Given the description of an element on the screen output the (x, y) to click on. 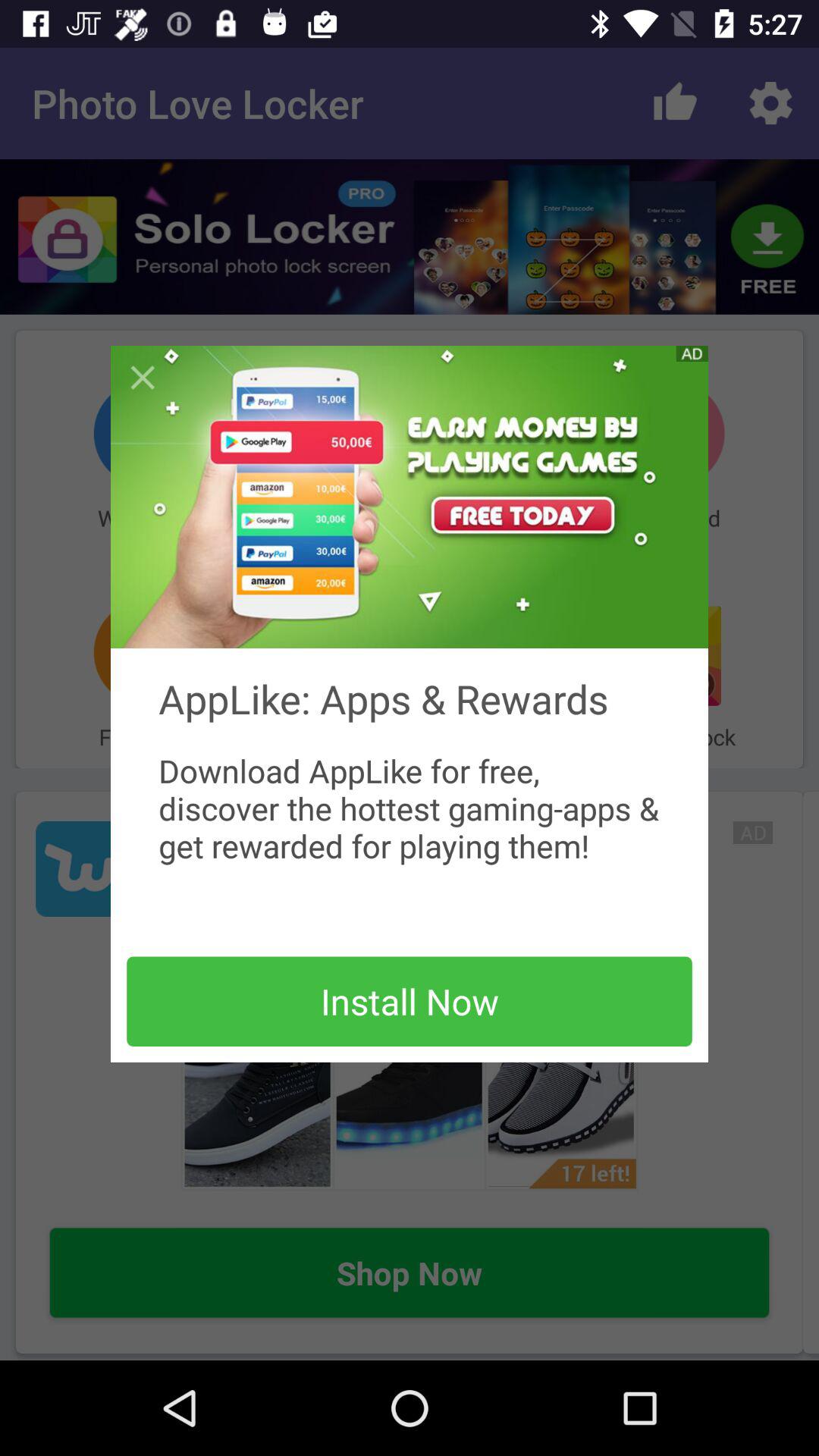
closes the advertisement (142, 377)
